Given the description of an element on the screen output the (x, y) to click on. 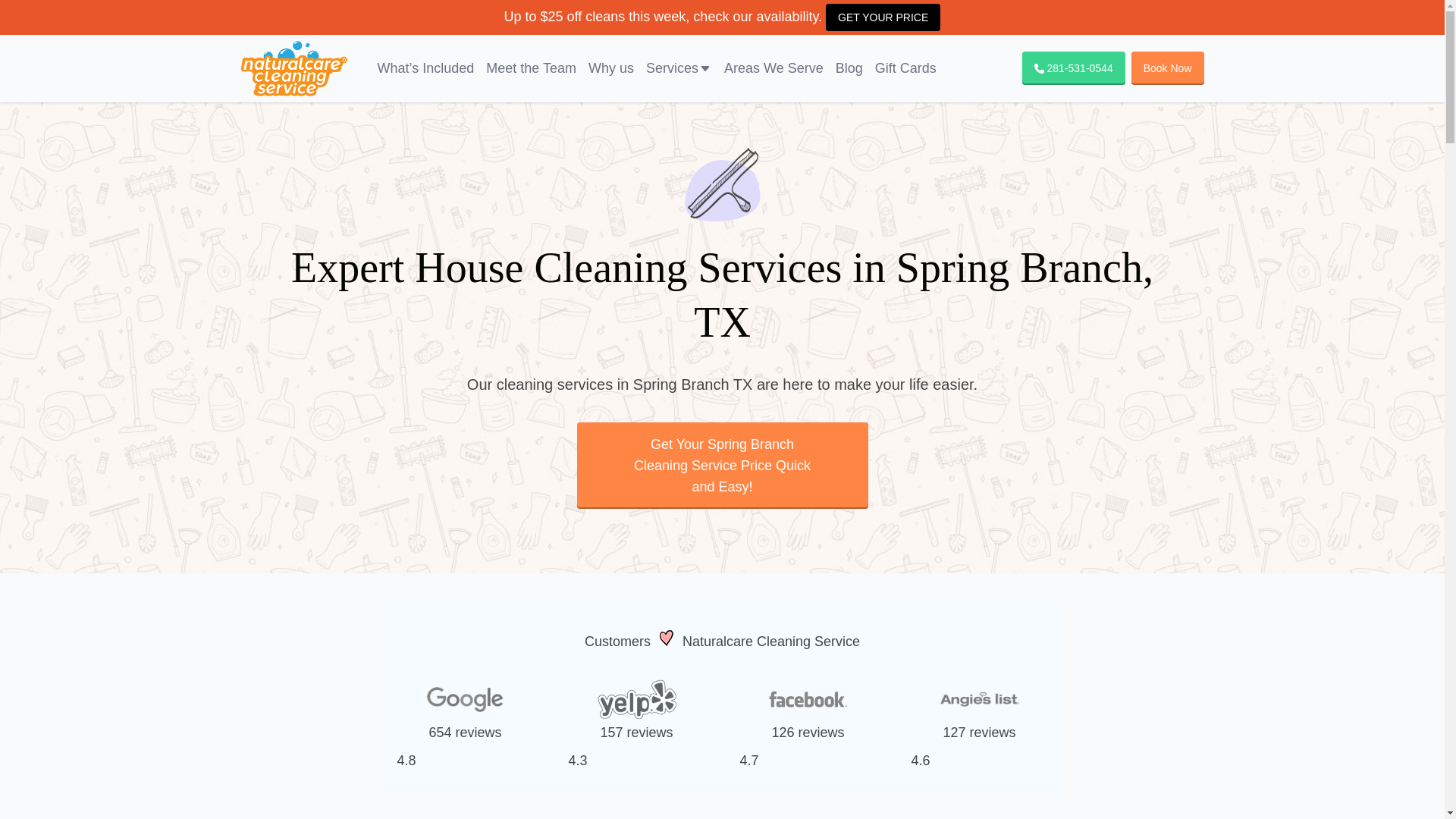
Book Now (1167, 68)
281-531-0544 (1073, 68)
Blog (849, 68)
Why us (611, 68)
Services (678, 68)
GET YOUR PRICE (882, 17)
Gift Cards (905, 68)
Areas We Serve (773, 68)
Meet the Team (531, 68)
